Given the description of an element on the screen output the (x, y) to click on. 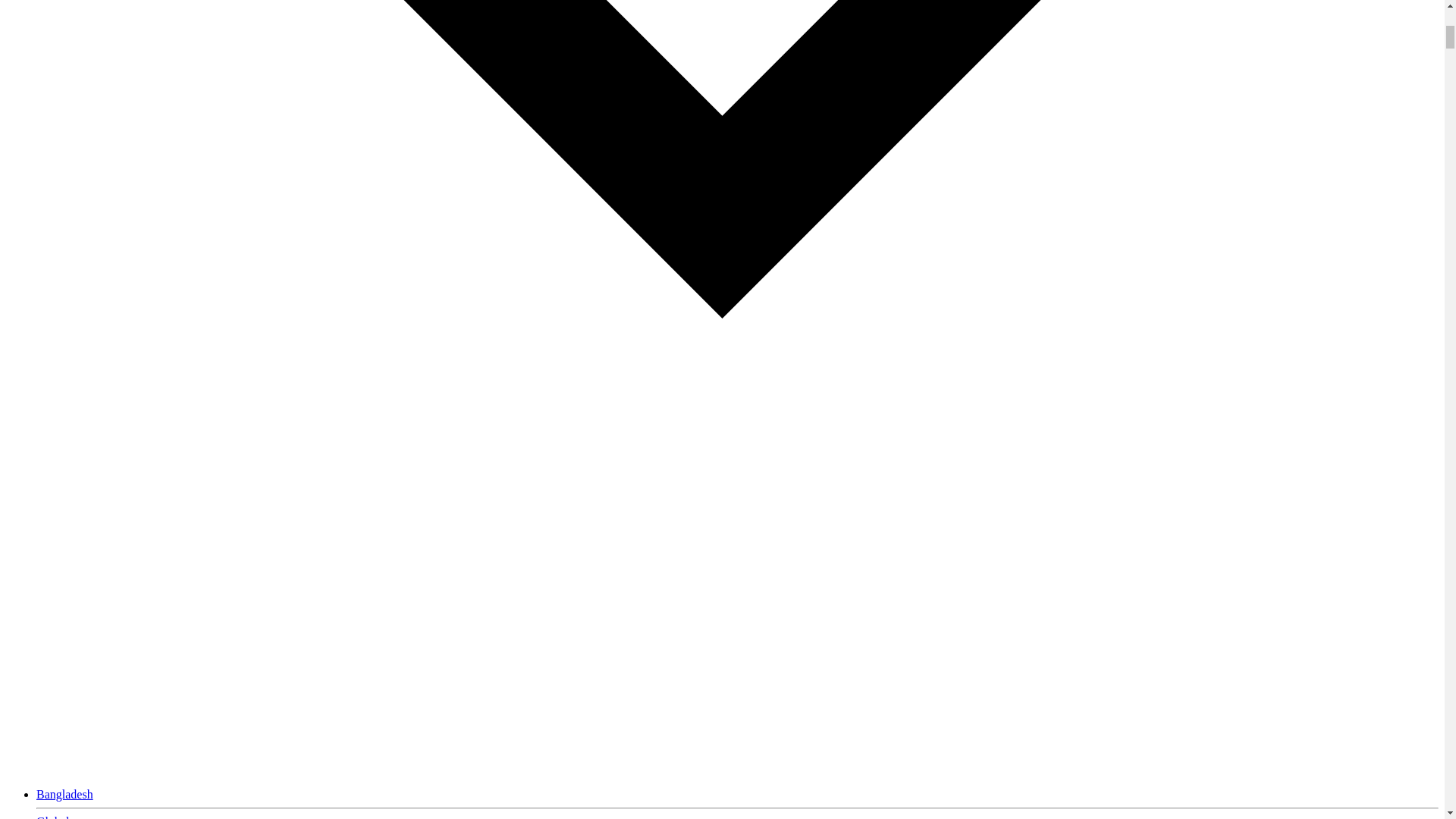
Bangladesh (64, 793)
Global (52, 816)
